Given the description of an element on the screen output the (x, y) to click on. 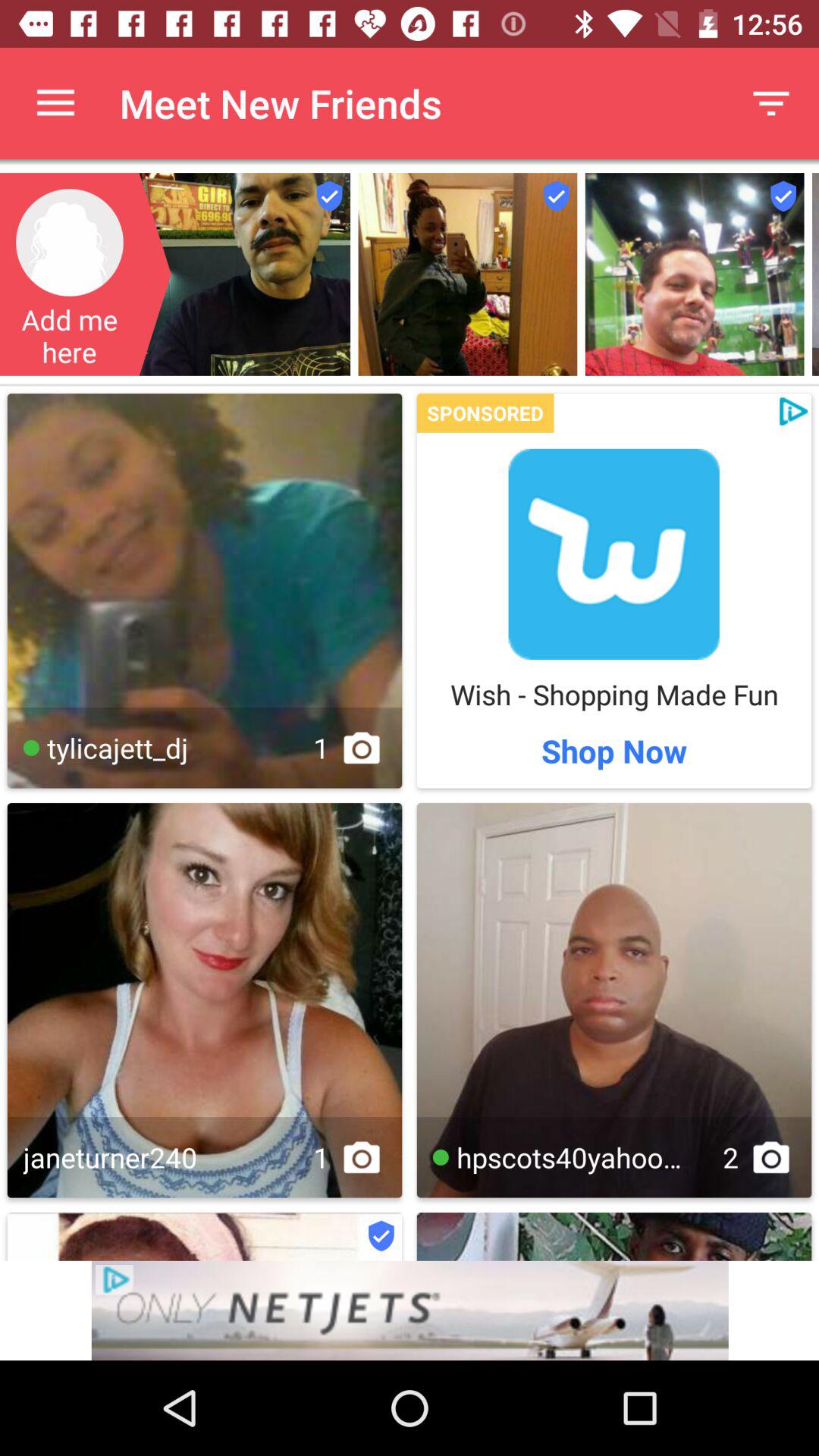
advertisement banner (613, 553)
